Given the description of an element on the screen output the (x, y) to click on. 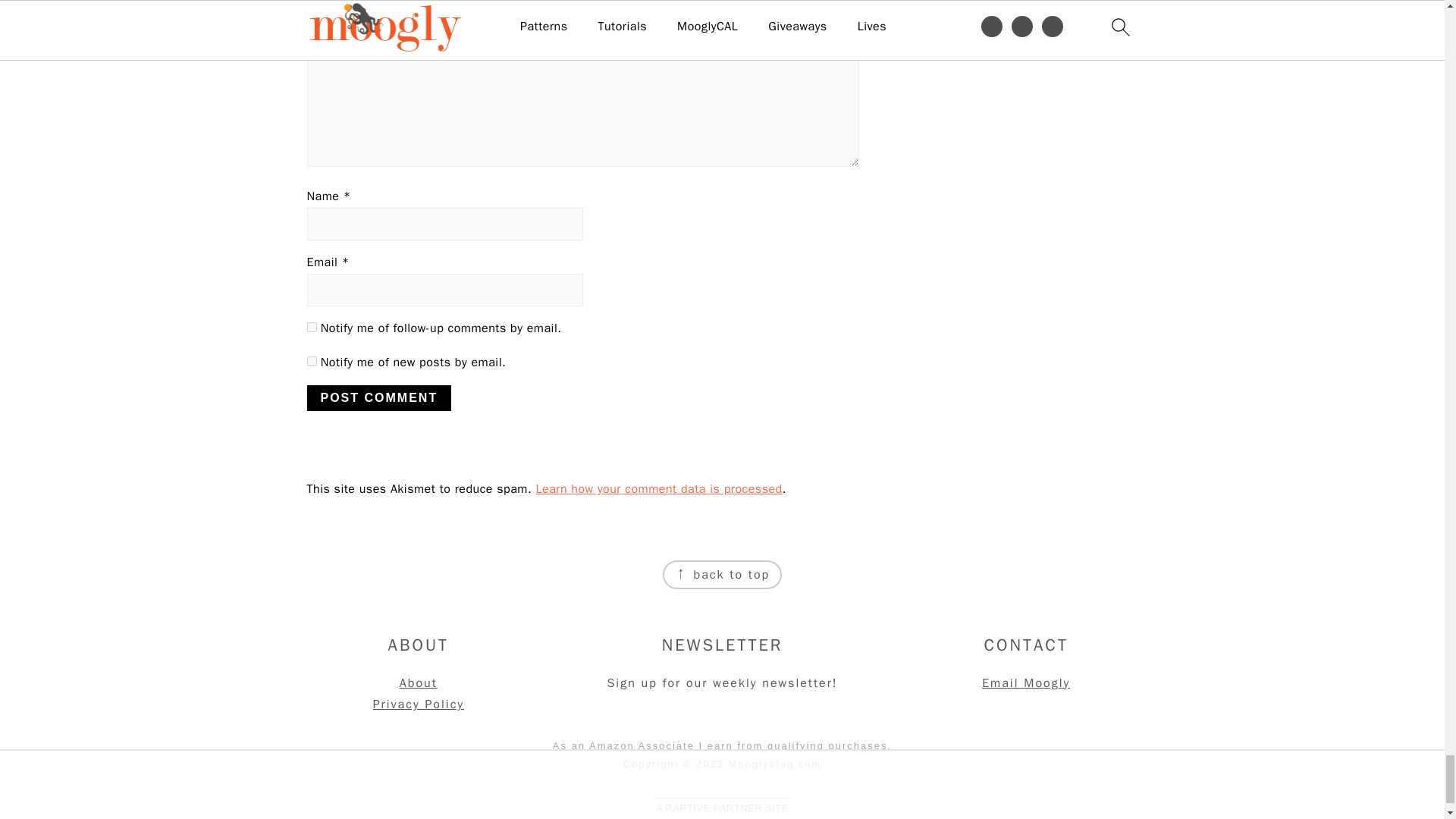
subscribe (310, 361)
subscribe (310, 327)
Post Comment (378, 397)
